Given the description of an element on the screen output the (x, y) to click on. 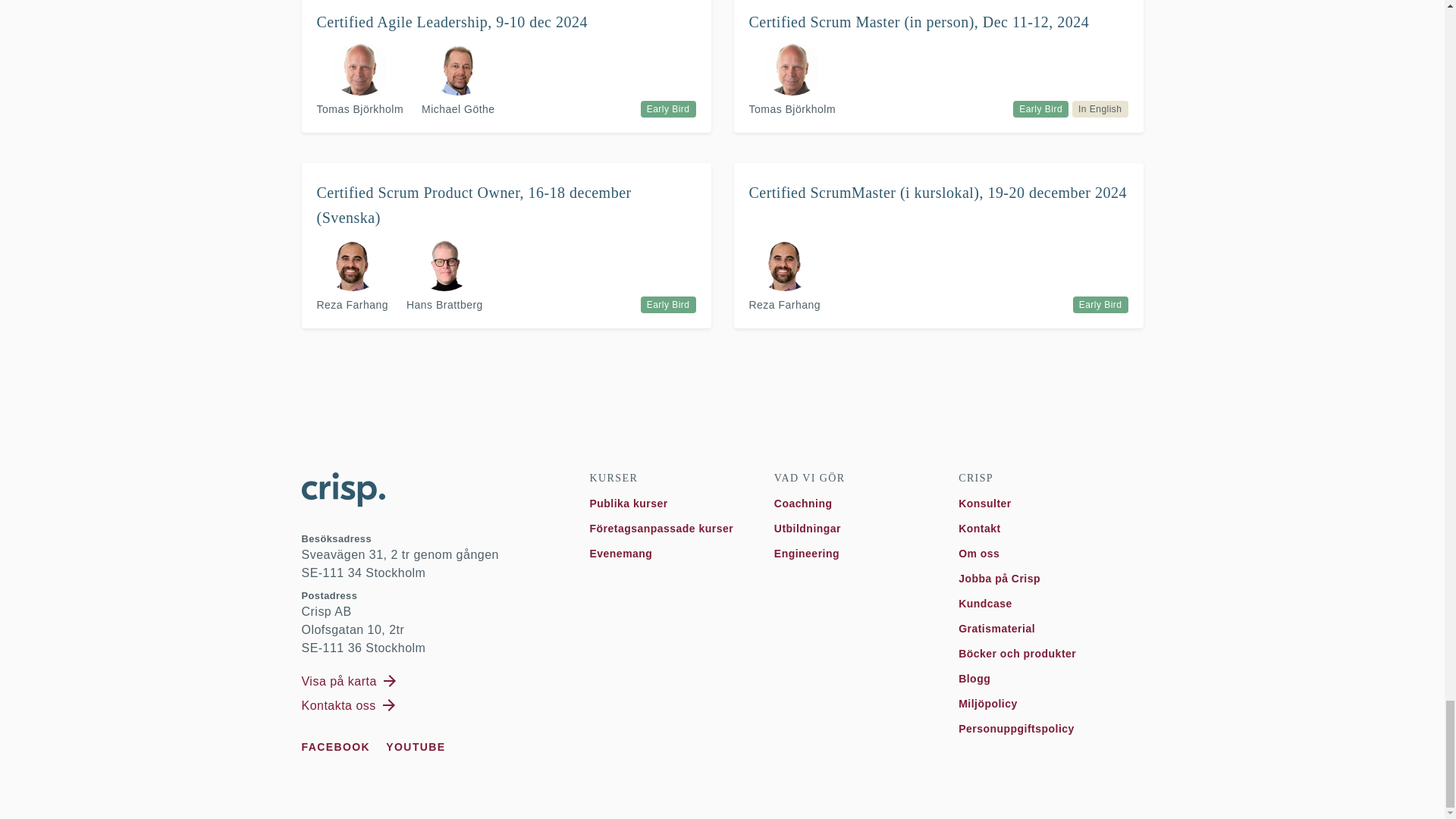
Crisp (343, 489)
